Given the description of an element on the screen output the (x, y) to click on. 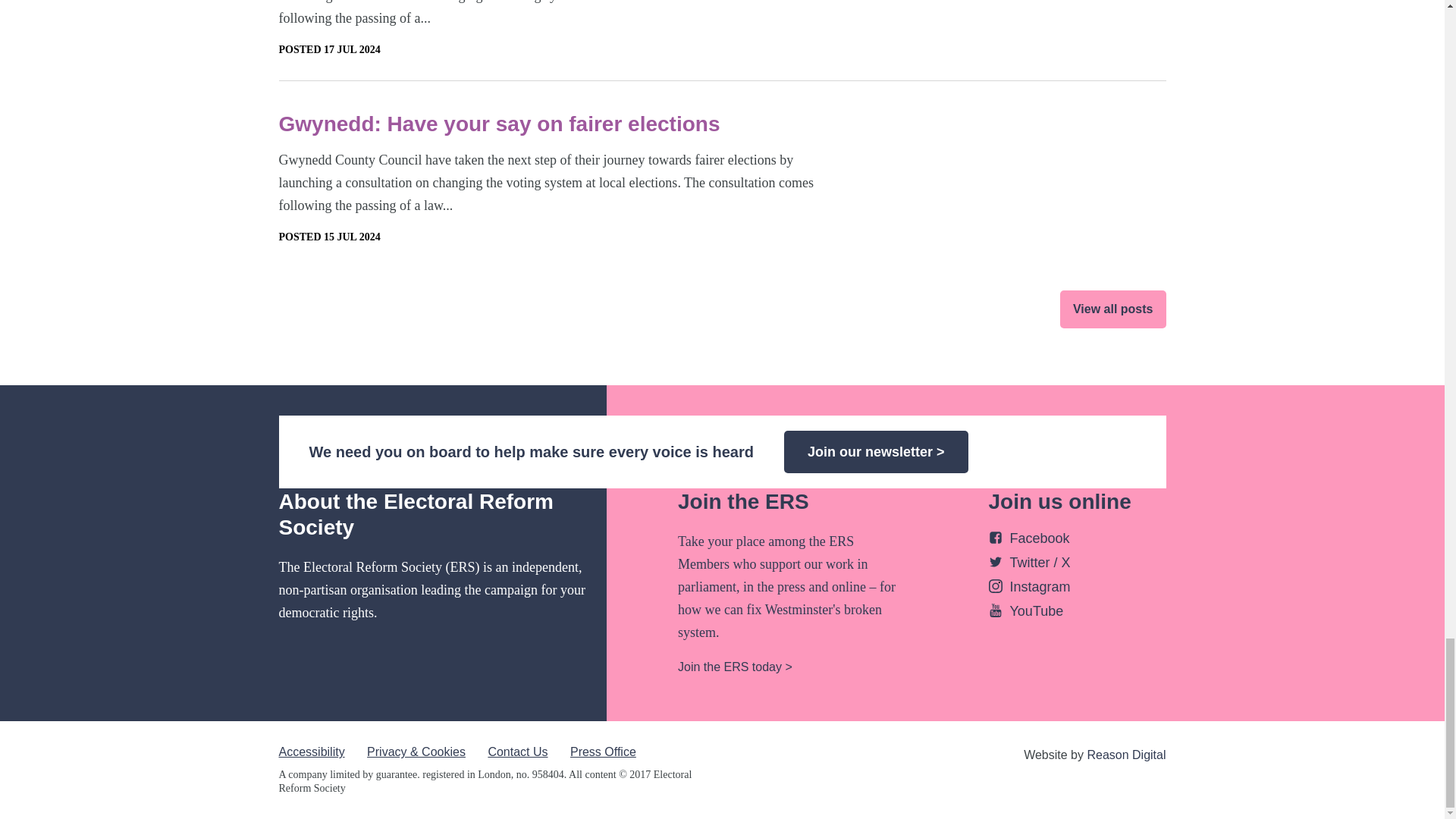
Facebook (1029, 538)
Instagram (1029, 586)
YouTube (1026, 611)
